Given the description of an element on the screen output the (x, y) to click on. 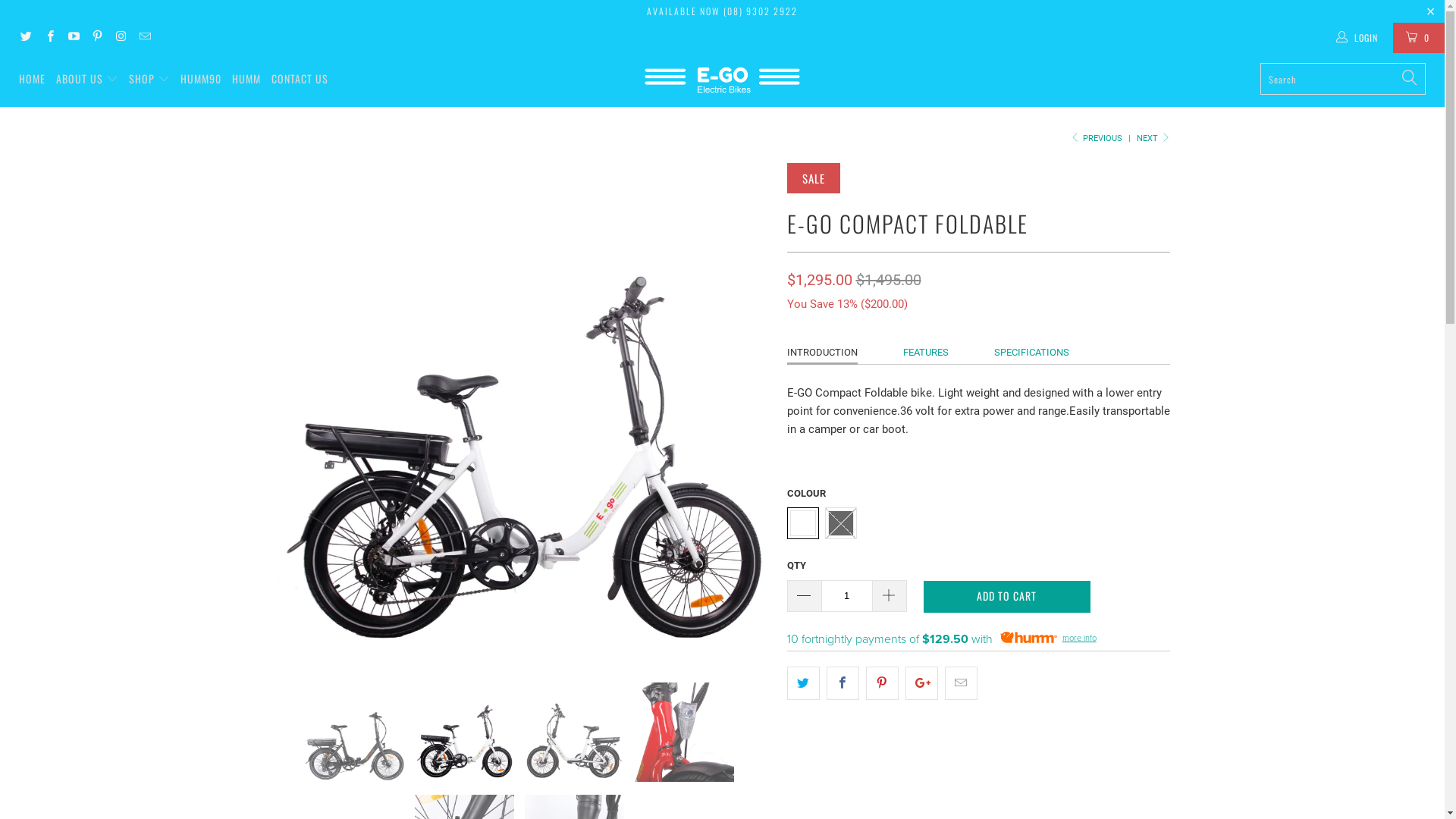
E-GO Electric Bikes Element type: hover (721, 79)
E-GO Electric Bikes on Twitter Element type: hover (24, 37)
E-GO Electric Bikes on Facebook Element type: hover (48, 37)
INTRODUCTION Element type: text (822, 352)
Share this on Facebook Element type: hover (842, 682)
Share this on Pinterest Element type: hover (882, 682)
Share this on Google+ Element type: hover (921, 682)
FEATURES Element type: text (924, 352)
PREVIOUS Element type: text (1095, 138)
ABOUT US Element type: text (87, 78)
Email E-GO Electric Bikes Element type: hover (143, 37)
HUMM90 Element type: text (200, 78)
HUMM Element type: text (246, 78)
AVAILABLE NOW (08) 9302 2922 Element type: text (721, 10)
LOGIN Element type: text (1357, 37)
HOME Element type: text (31, 78)
Share this on Twitter Element type: hover (803, 682)
0 Element type: text (1418, 37)
SPECIFICATIONS Element type: text (1030, 352)
ADD TO CART Element type: text (1006, 596)
Email this to a friend Element type: hover (960, 682)
NEXT Element type: text (1153, 138)
E-GO Electric Bikes on YouTube Element type: hover (72, 37)
E-GO Electric Bikes on Pinterest Element type: hover (96, 37)
E-GO Electric Bikes on Instagram Element type: hover (119, 37)
10 fortnightly payments of $129.50 with more info Element type: text (978, 638)
CONTACT US Element type: text (299, 78)
SHOP Element type: text (148, 78)
